Given the description of an element on the screen output the (x, y) to click on. 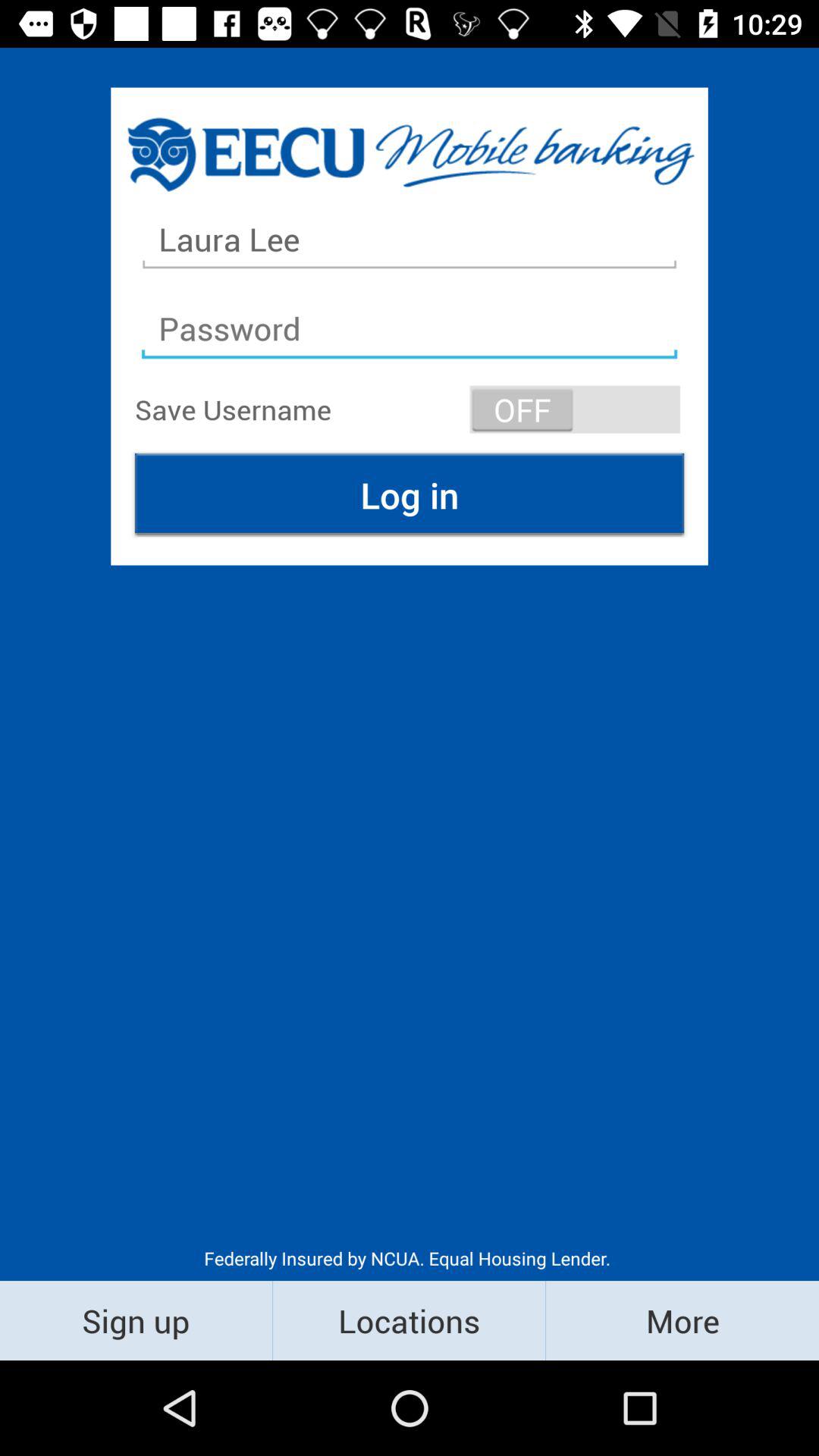
choose log in at the center (409, 494)
